Given the description of an element on the screen output the (x, y) to click on. 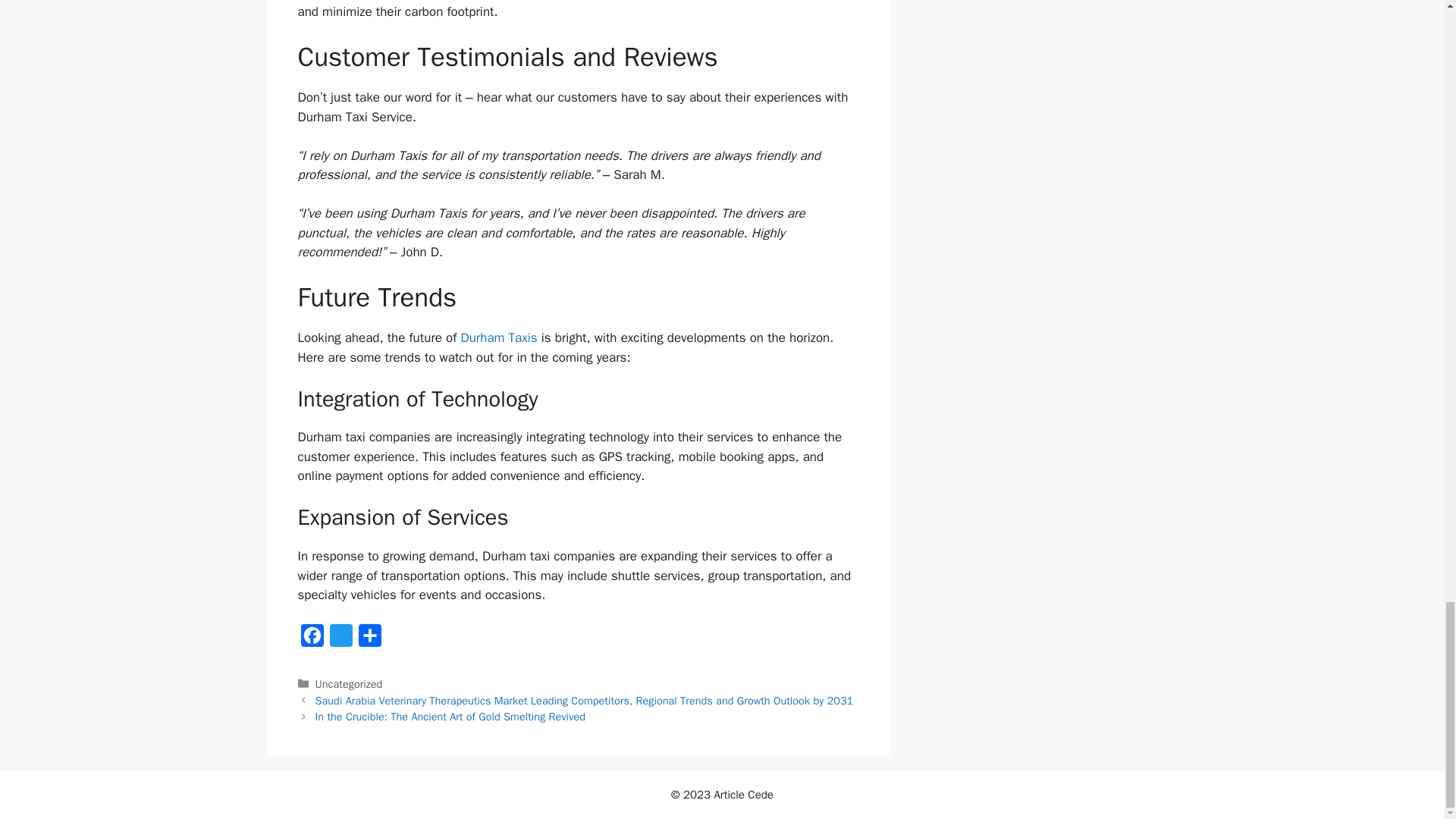
Durham Taxis (498, 337)
Twitter (340, 639)
Facebook (311, 639)
Facebook (311, 639)
In the Crucible: The Ancient Art of Gold Smelting Revived (450, 716)
Twitter (340, 639)
